Given the description of an element on the screen output the (x, y) to click on. 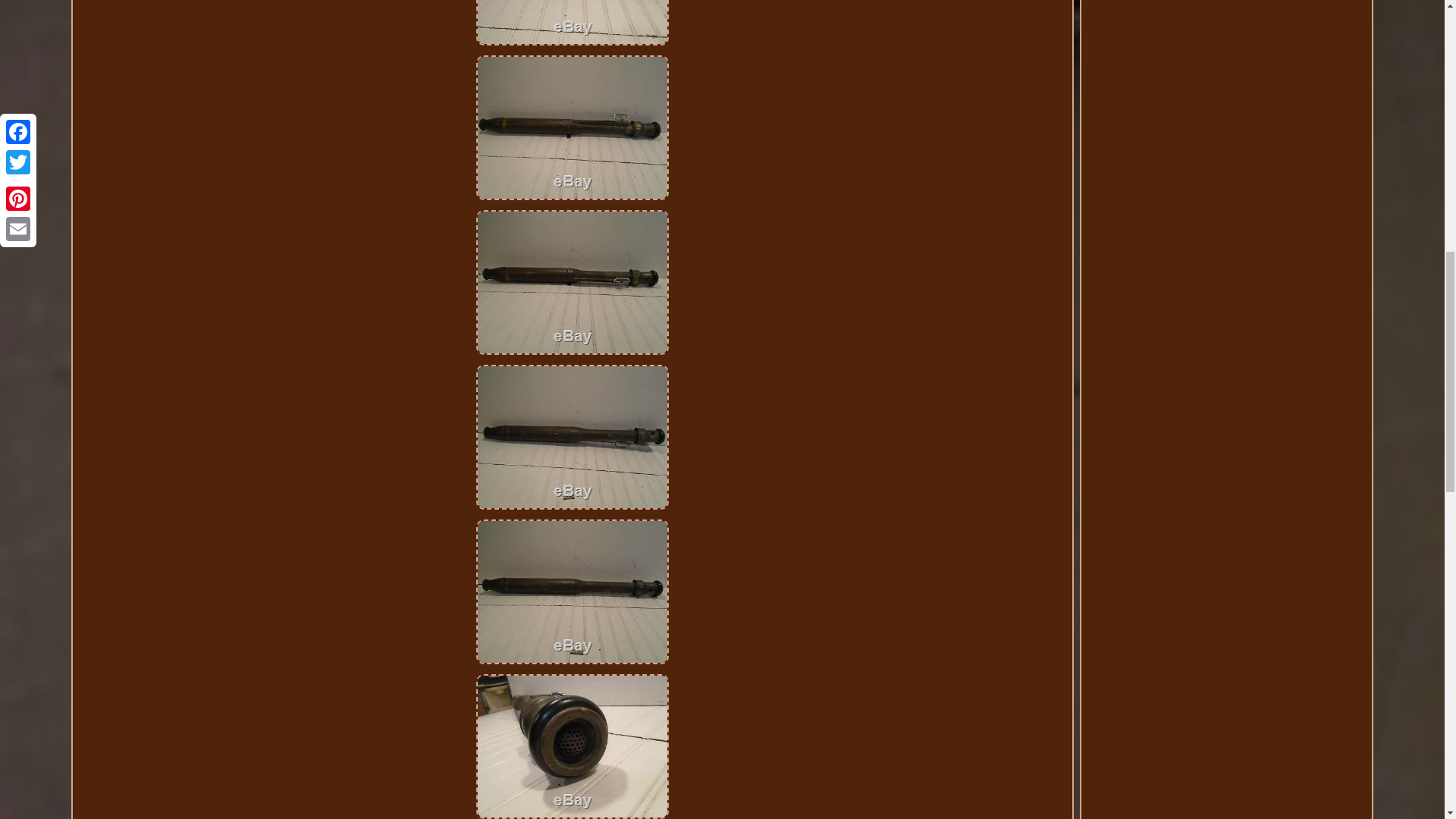
Vintage National Aer-o Foam Fire Nozzle Solid Brass (572, 591)
Vintage National Aer-o Foam Fire Nozzle Solid Brass (572, 436)
Vintage National Aer-o Foam Fire Nozzle Solid Brass (572, 746)
Vintage National Aer-o Foam Fire Nozzle Solid Brass (572, 281)
Vintage National Aer-o Foam Fire Nozzle Solid Brass (572, 127)
Vintage National Aer-o Foam Fire Nozzle Solid Brass (572, 22)
